Given the description of an element on the screen output the (x, y) to click on. 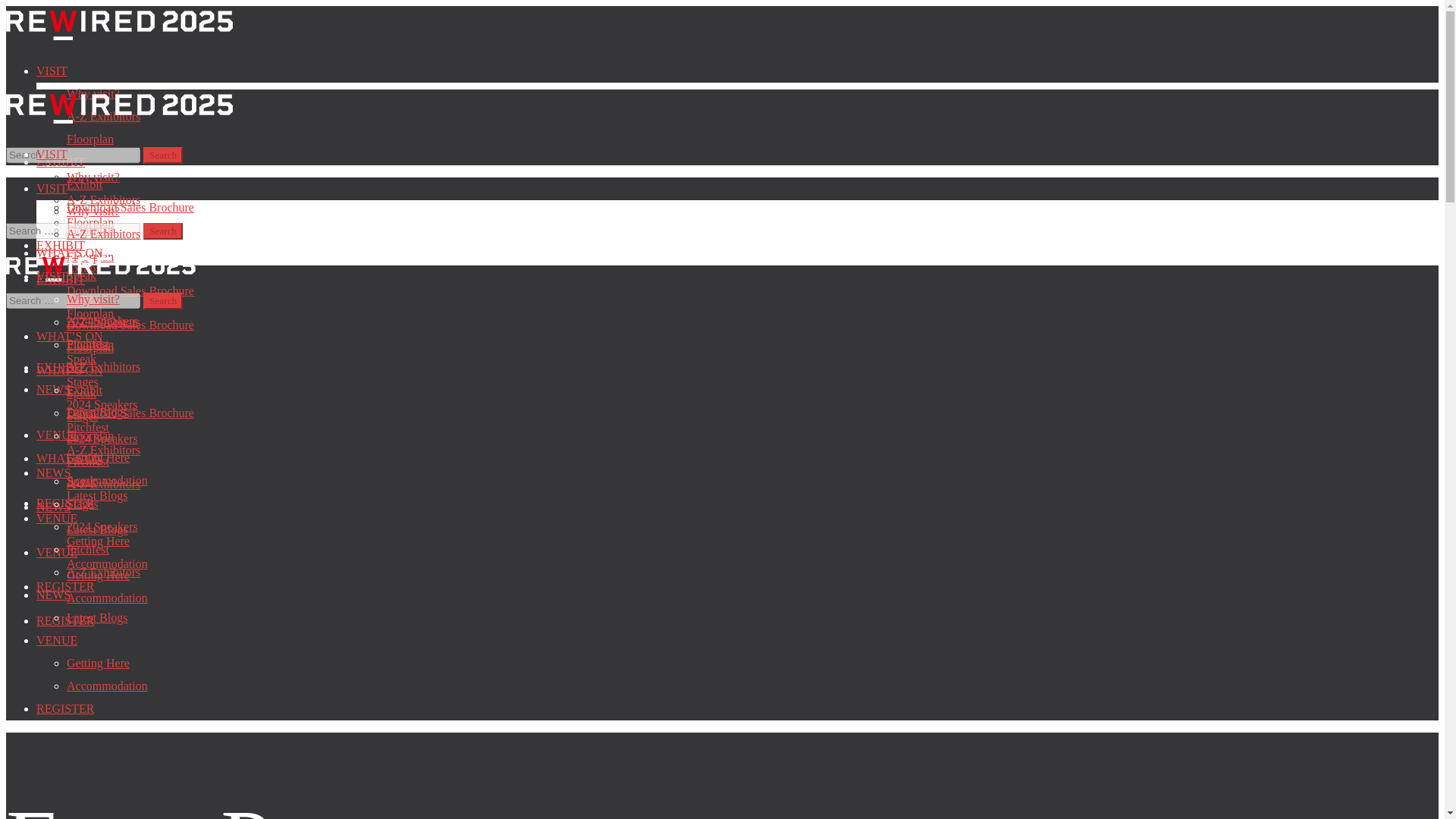
Search (162, 230)
2024 Speakers (102, 404)
2024 Speakers (102, 320)
Floorplan (89, 222)
Speak (81, 275)
Latest Blogs (97, 411)
Search (162, 155)
Download Sales Brochure (129, 290)
EXHIBIT (60, 245)
VISIT (51, 70)
Why visit? (92, 176)
VENUE (56, 517)
Getting Here (97, 457)
Why visit? (92, 92)
Download Sales Brochure (129, 206)
